Given the description of an element on the screen output the (x, y) to click on. 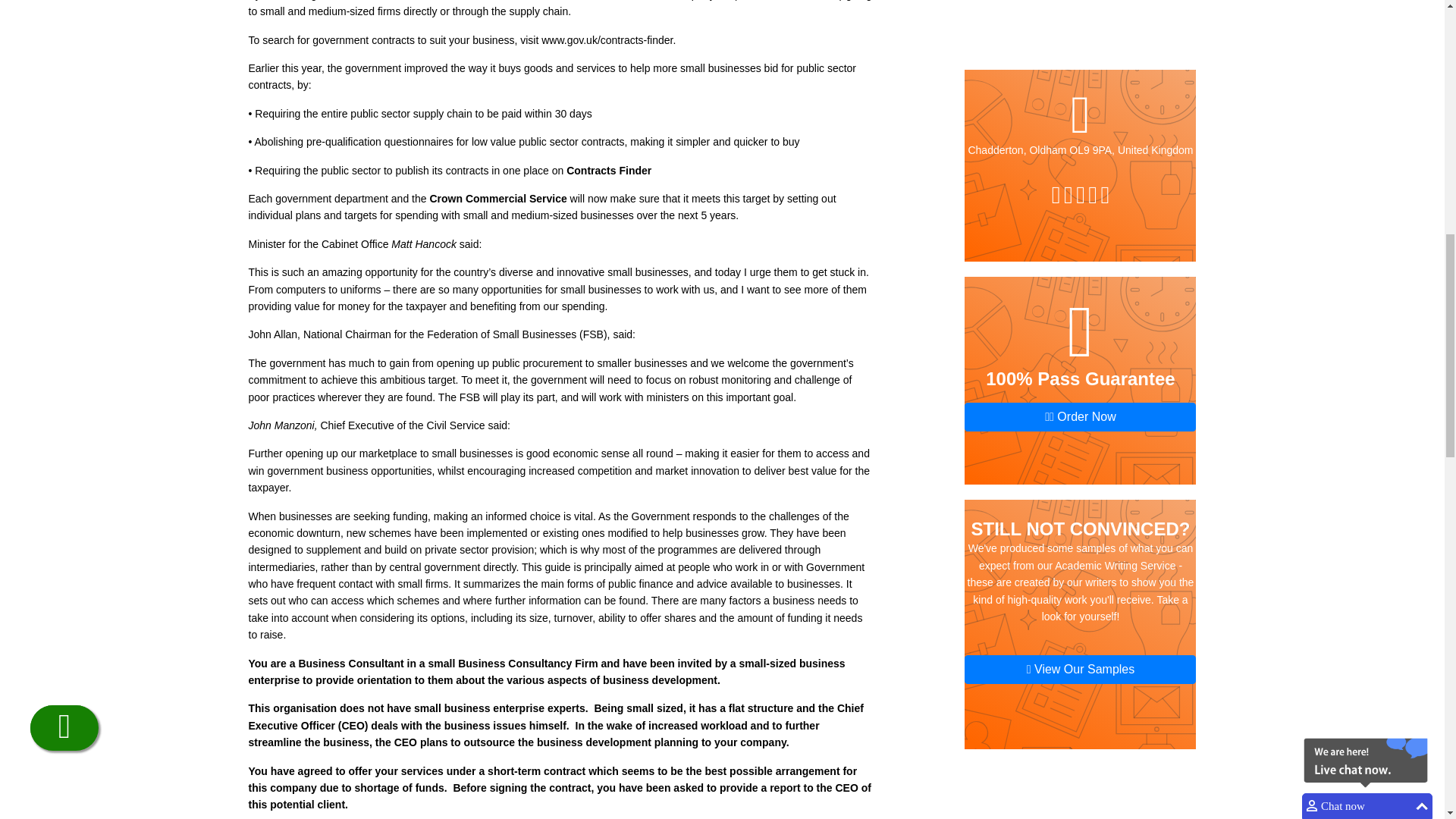
View Our Samples (1079, 43)
